Given the description of an element on the screen output the (x, y) to click on. 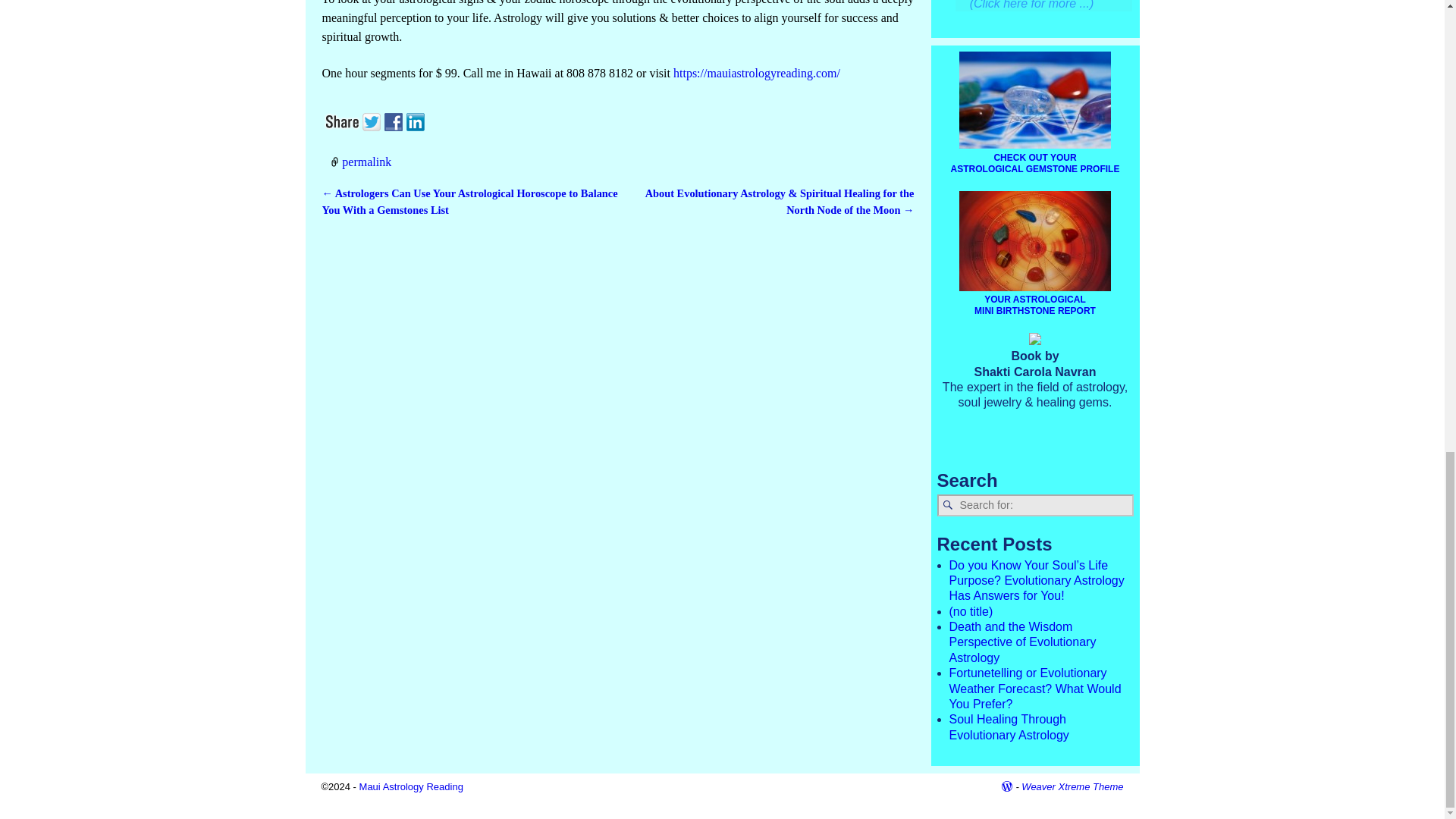
Weaver Xtreme Theme (1072, 786)
Twitter (373, 119)
Maui Astrology Reading (411, 786)
Linkedin (417, 119)
Proudly powered by WordPress (1007, 786)
Facebook (395, 119)
